Given the description of an element on the screen output the (x, y) to click on. 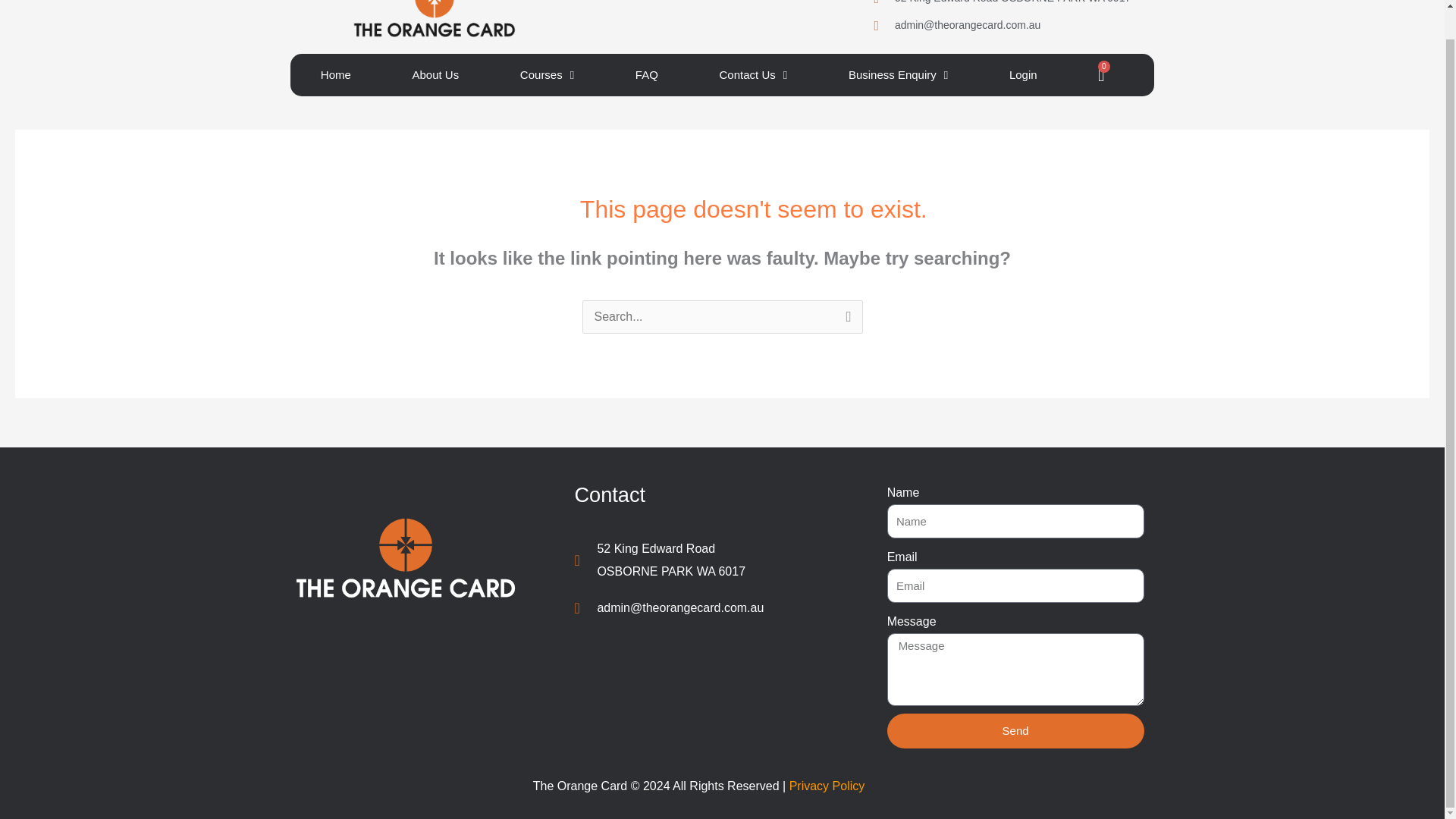
Contact Us (752, 75)
Courses (547, 75)
Home (335, 75)
About Us (435, 75)
FAQ (705, 559)
Login (1101, 75)
Business Enquiry (646, 75)
52 King Edward Road OSBORNE PARK WA 6017 (1022, 75)
